Given the description of an element on the screen output the (x, y) to click on. 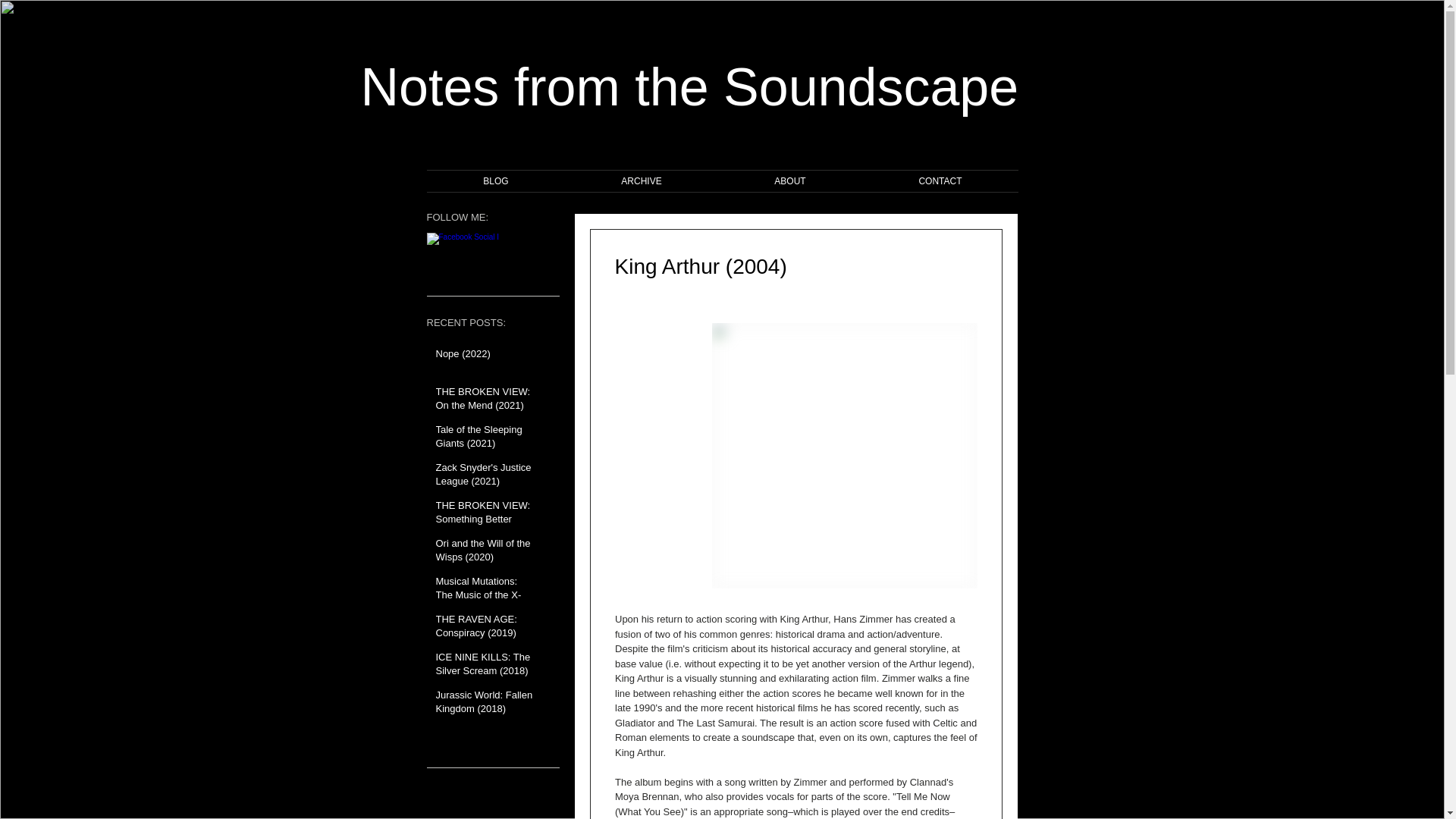
ABOUT (789, 180)
Musical Mutations: The Music of the X-Men Films (485, 598)
BLOG (495, 180)
ARCHIVE (641, 180)
CONTACT (940, 180)
